Given the description of an element on the screen output the (x, y) to click on. 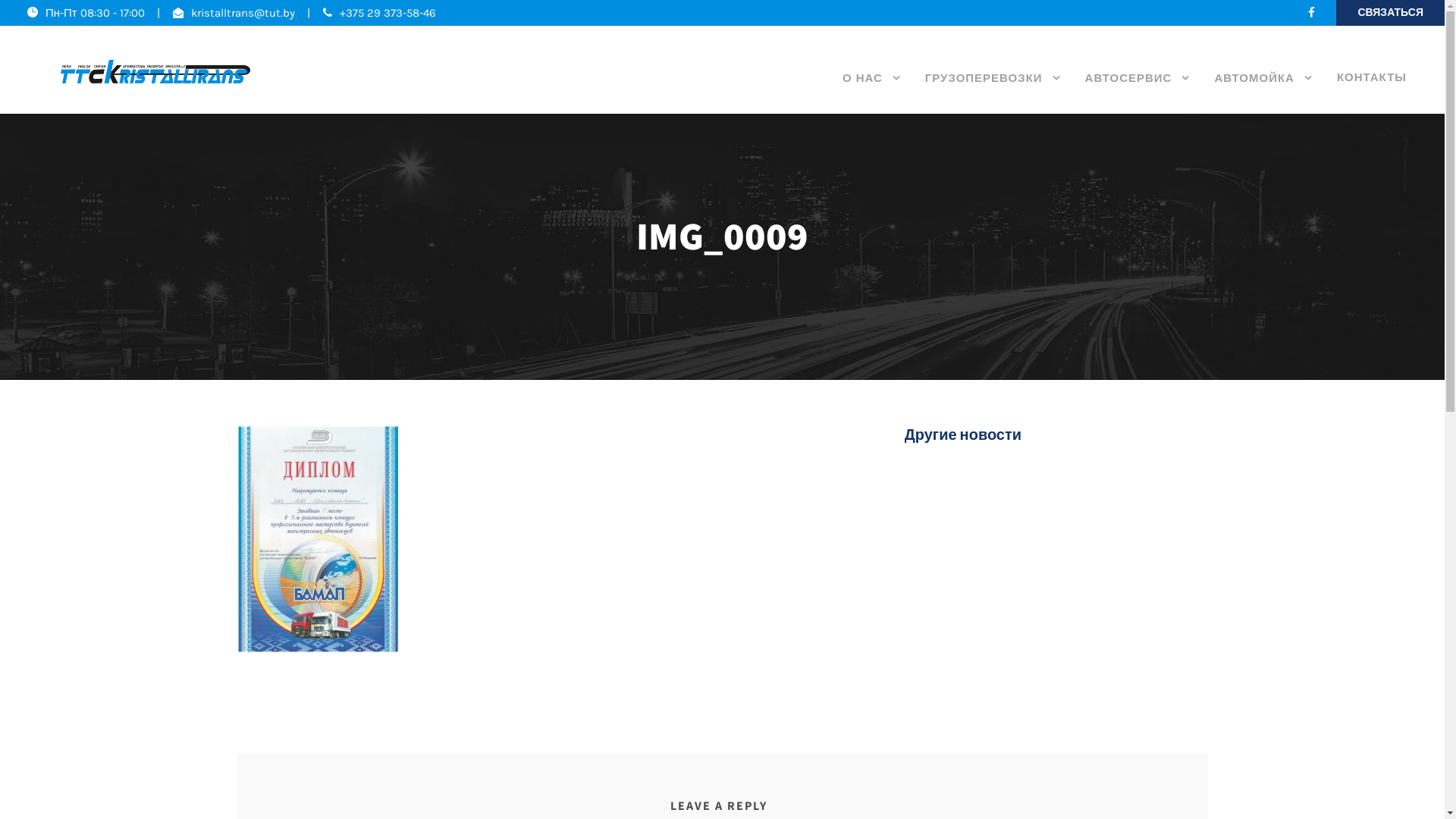
kristalltrans.by Element type: hover (155, 71)
facebook Element type: hover (1311, 12)
kristalltrans@tut.by Element type: text (242, 12)
+375 29 373-58-46 Element type: text (387, 12)
